Given the description of an element on the screen output the (x, y) to click on. 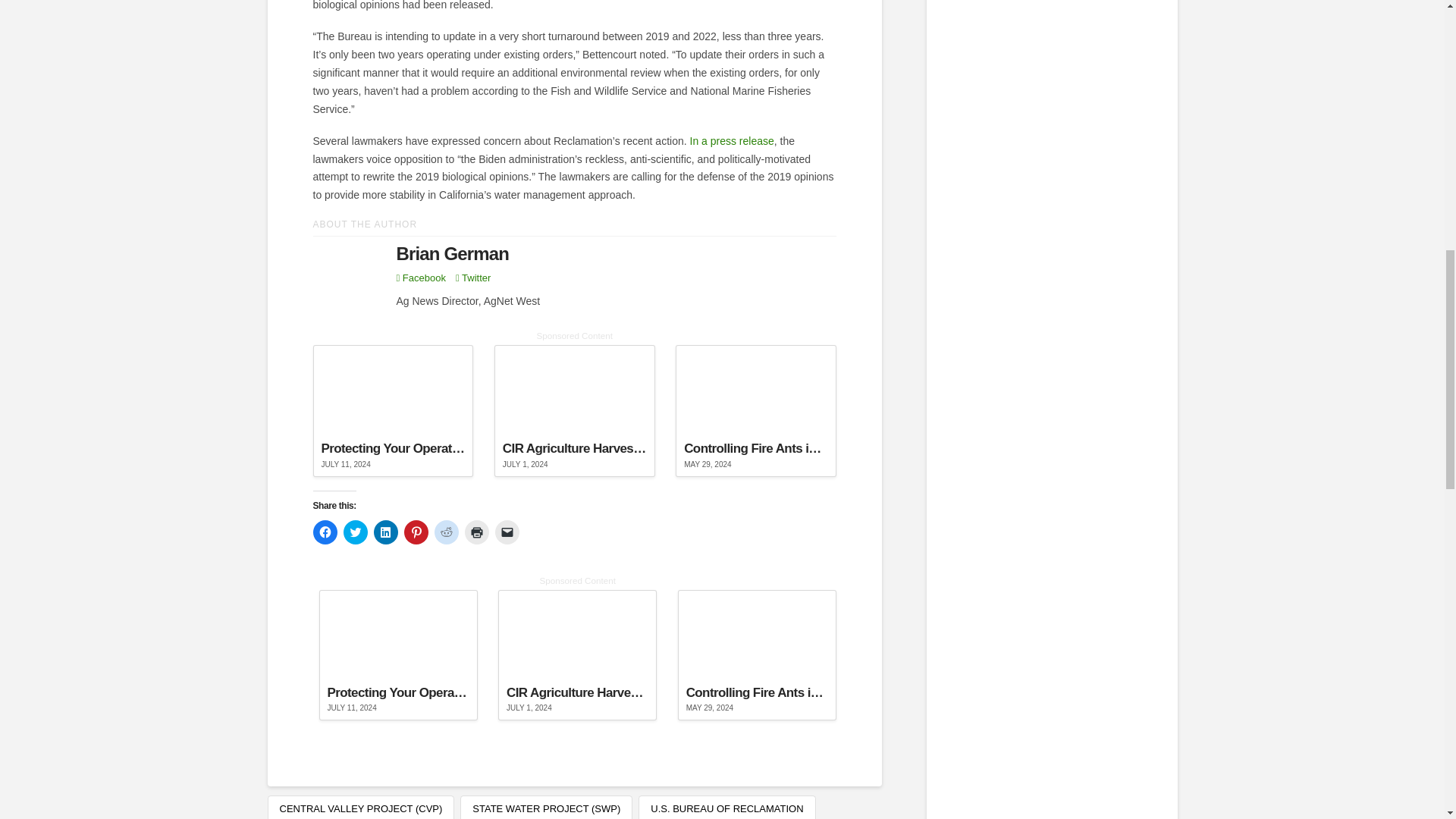
Click to share on Facebook (324, 532)
Visit the Facebook Profile for Brian German (420, 278)
Click to print (475, 532)
Visit the Twitter Profile for Brian German (472, 278)
Click to share on Pinterest (415, 532)
Permalink to: "CIR Agriculture Harvester Products" (575, 410)
Click to share on Twitter (354, 532)
Click to share on Reddit (445, 532)
Click to share on LinkedIn (384, 532)
